Given the description of an element on the screen output the (x, y) to click on. 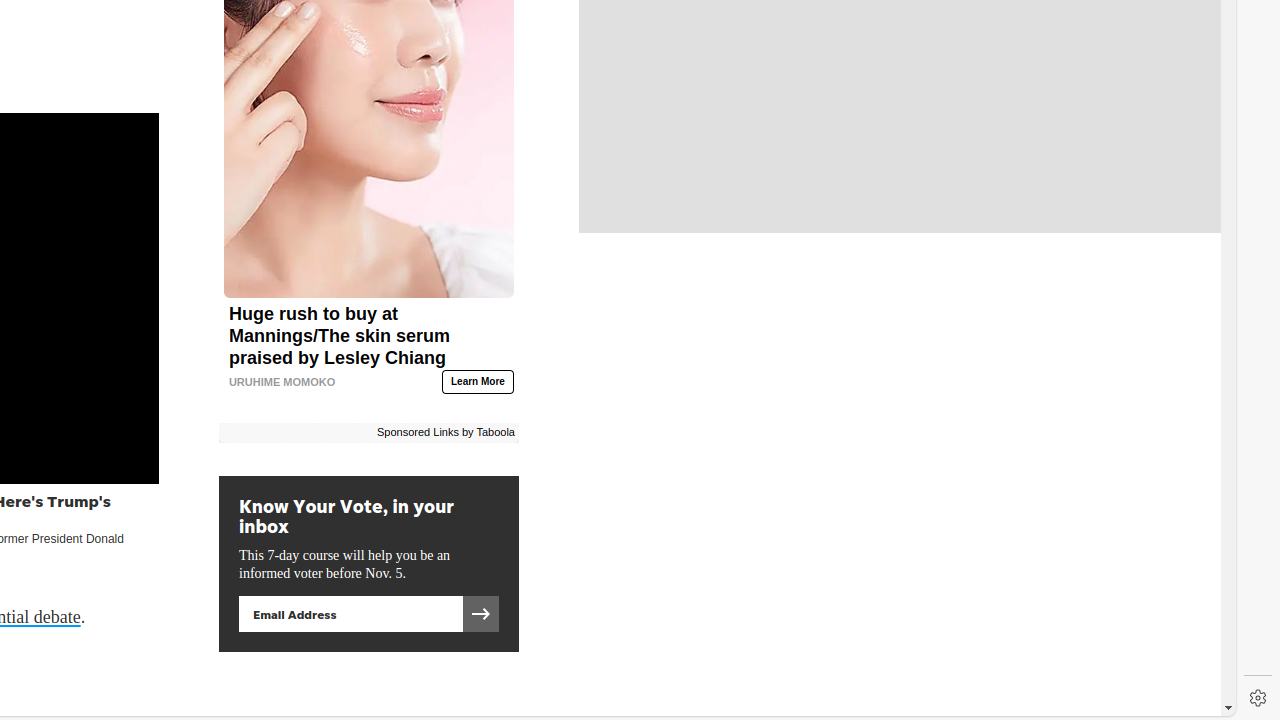
Settings Element type: push-button (1258, 698)
Submit to sign up for newsletter Element type: push-button (480, 614)
